Given the description of an element on the screen output the (x, y) to click on. 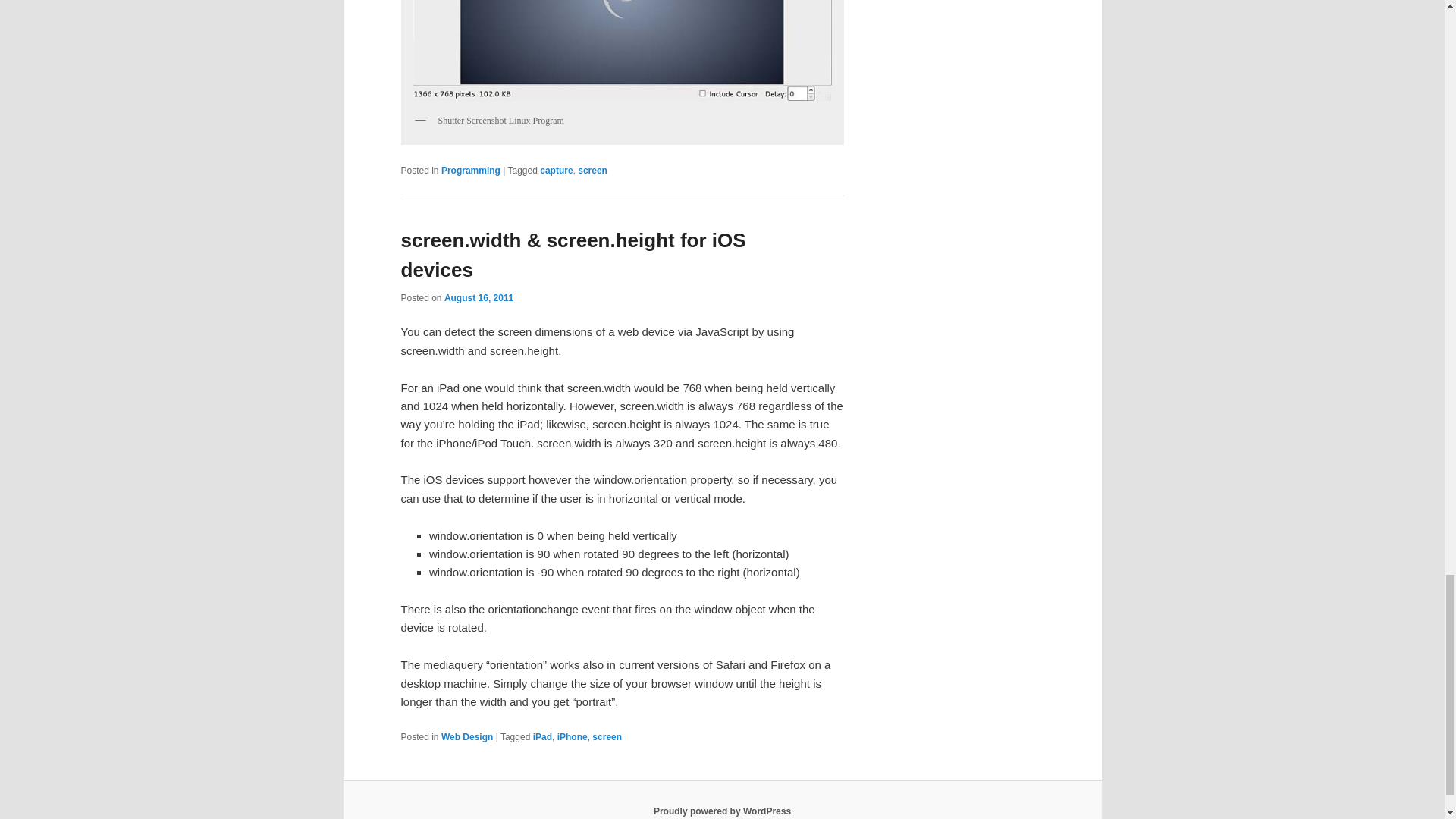
iPhone (572, 737)
iPad (541, 737)
23:38 (478, 297)
screen (592, 170)
screen (606, 737)
capture (556, 170)
Web Design (467, 737)
Programming (470, 170)
Semantic Personal Publishing Platform (721, 810)
August 16, 2011 (478, 297)
